Given the description of an element on the screen output the (x, y) to click on. 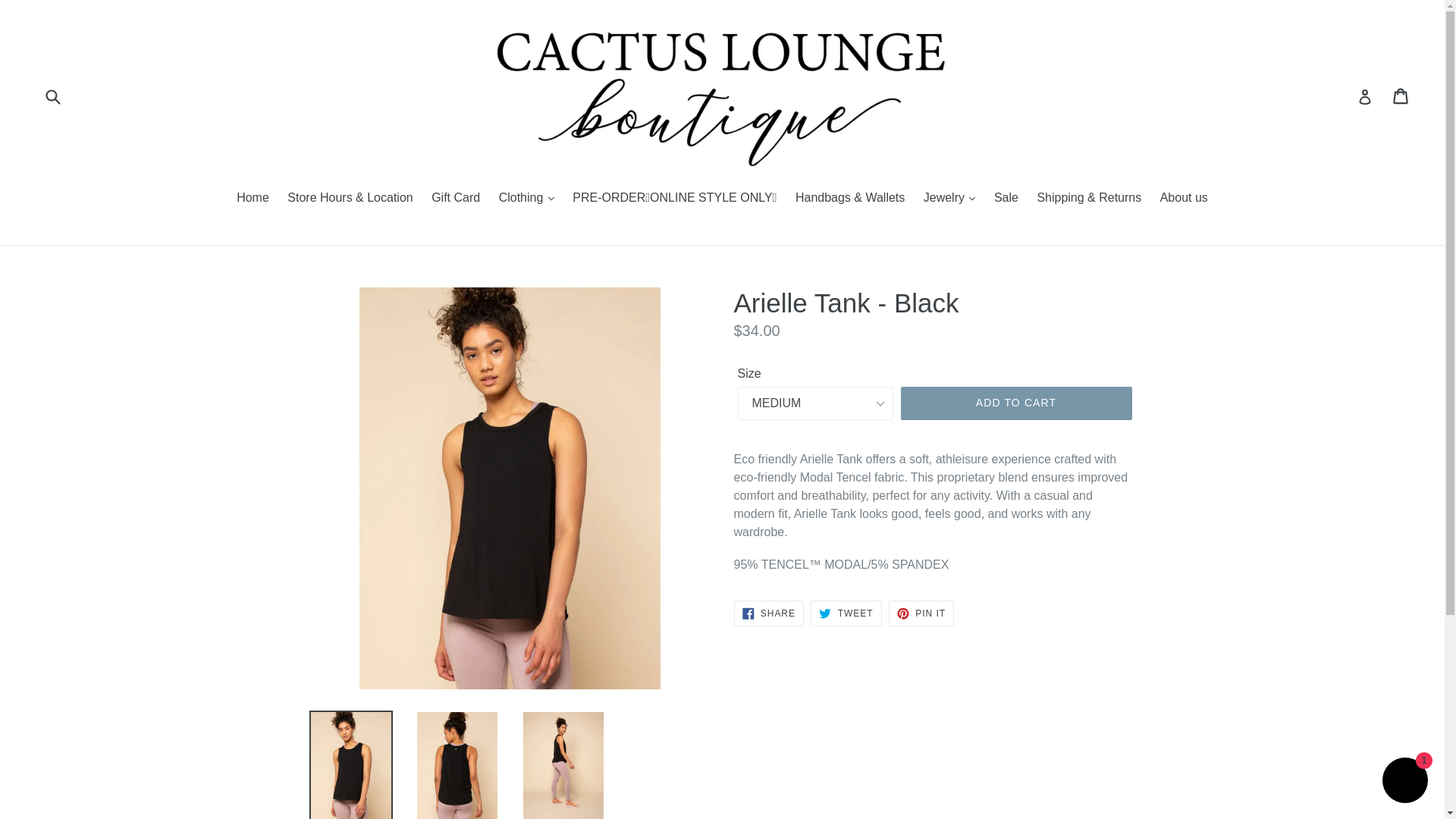
Pin on Pinterest (920, 613)
Shopify online store chat (1404, 781)
Share on Facebook (768, 613)
Tweet on Twitter (845, 613)
